Given the description of an element on the screen output the (x, y) to click on. 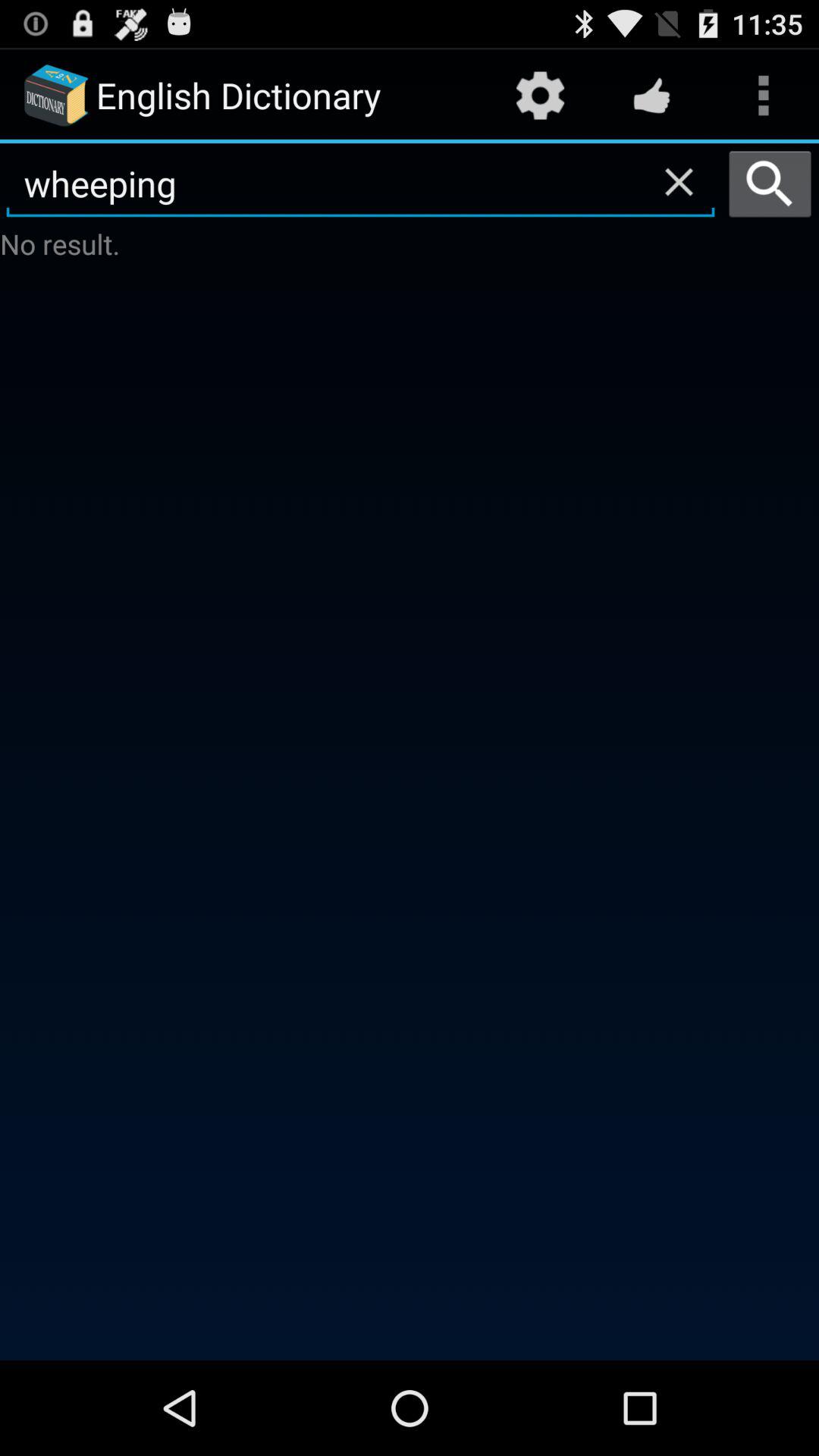
turn on wheeping item (360, 184)
